Given the description of an element on the screen output the (x, y) to click on. 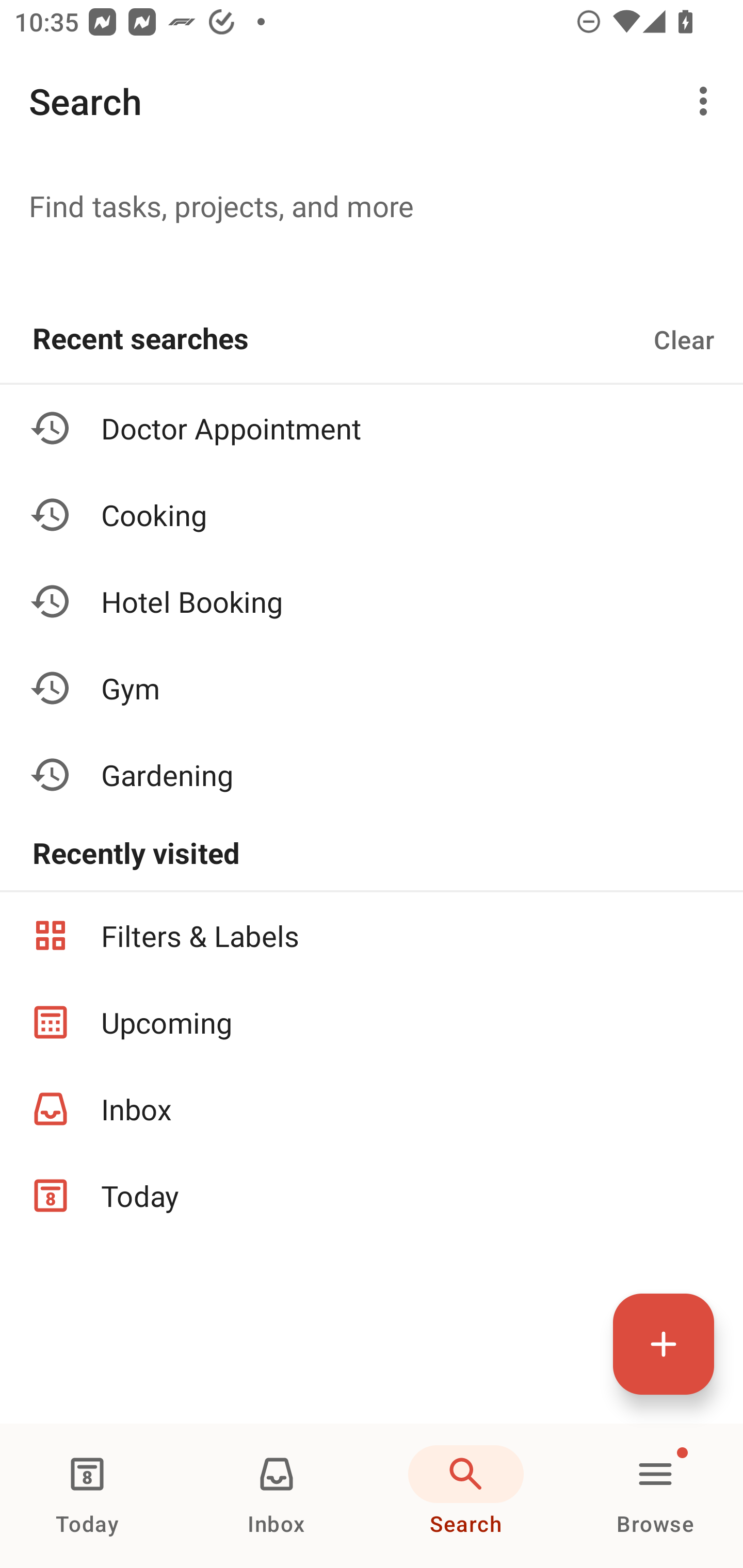
Search More options (371, 100)
More options (706, 101)
Find tasks, projects, and more (371, 205)
Clear (683, 339)
Doctor Appointment (371, 427)
Cooking (371, 514)
Hotel Booking (371, 601)
Gym (371, 687)
Gardening (371, 774)
Filters & Labels (371, 935)
Upcoming (371, 1022)
Inbox (371, 1109)
Today (371, 1195)
Quick add (663, 1343)
Today (87, 1495)
Inbox (276, 1495)
Browse (655, 1495)
